Given the description of an element on the screen output the (x, y) to click on. 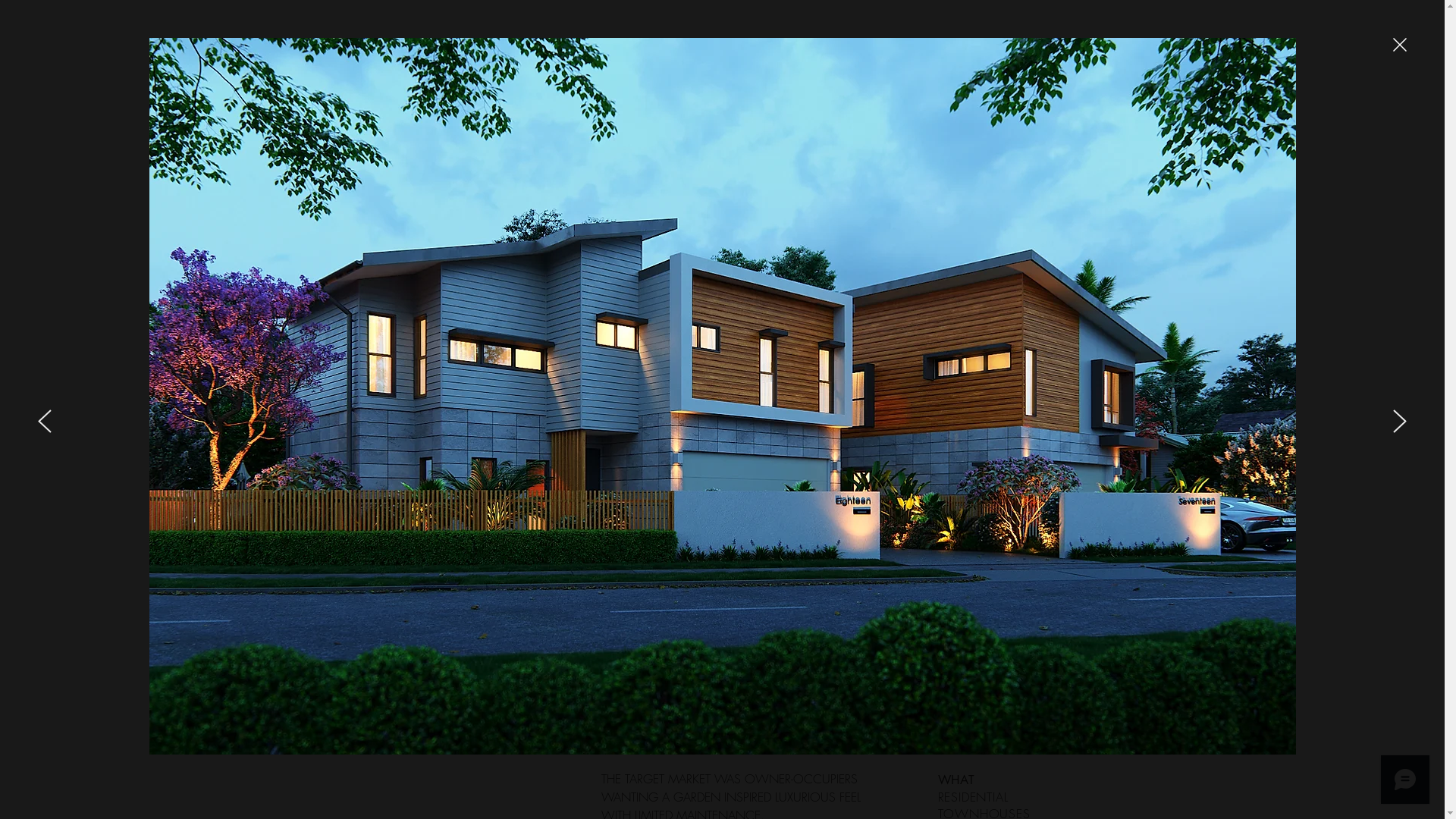
CURRENT PROJECTS Element type: text (563, 170)
SHOP Element type: text (816, 170)
CONTACT Element type: text (990, 170)
HOME Element type: text (442, 170)
PAST PROJECTS Element type: text (710, 170)
ABOUT Element type: text (898, 170)
